Given the description of an element on the screen output the (x, y) to click on. 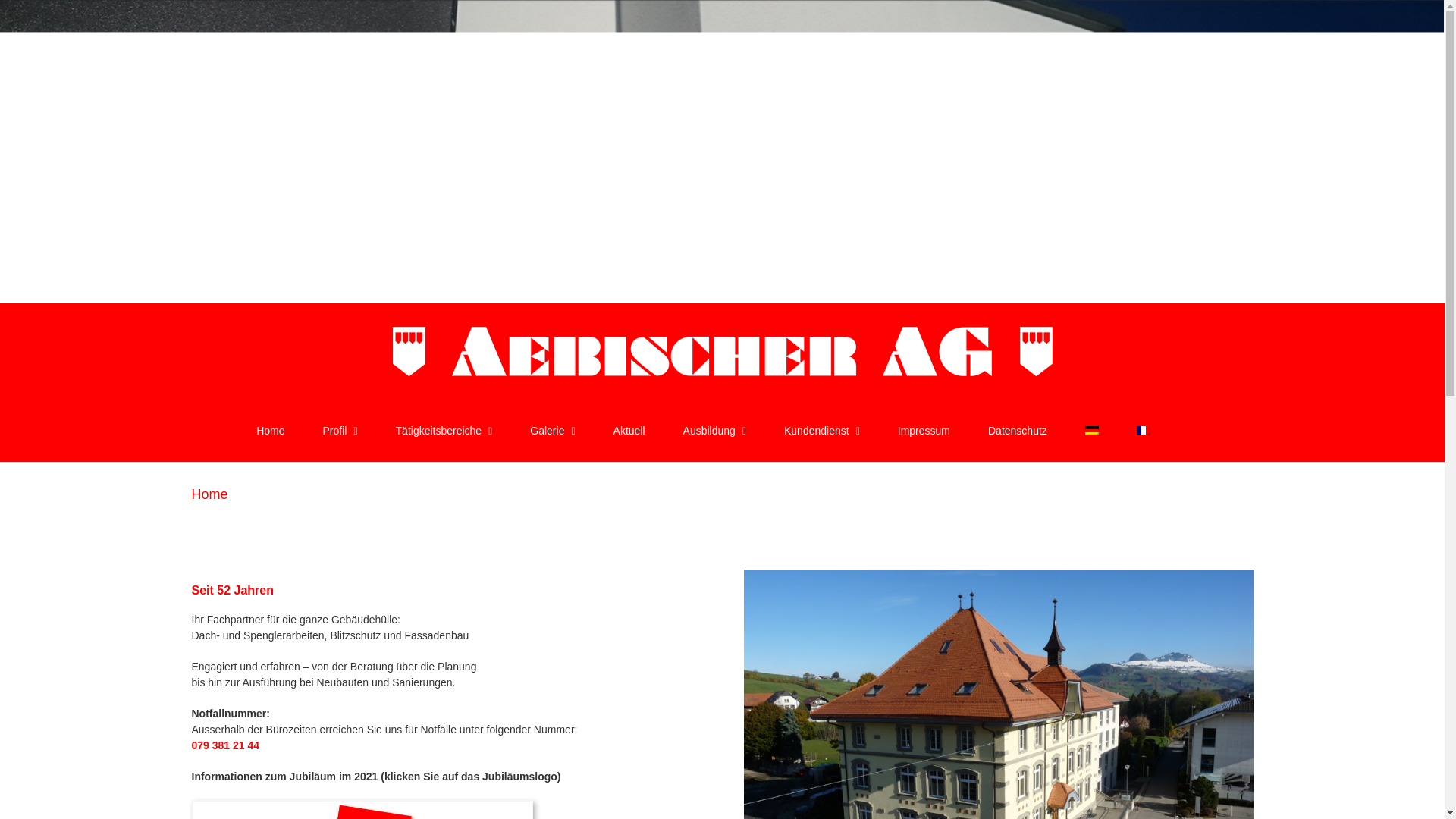
Impressum Element type: text (923, 430)
Deutsch Element type: hover (1091, 430)
079 381 21 44 Element type: text (225, 745)
st-01 Element type: hover (997, 574)
Ausbildung Element type: text (714, 430)
Aktuell Element type: text (629, 430)
Home Element type: text (270, 430)
Kundendienst Element type: text (821, 430)
Galerie Element type: text (552, 430)
Datenschutz Element type: text (1017, 430)
Profil Element type: text (340, 430)
